Given the description of an element on the screen output the (x, y) to click on. 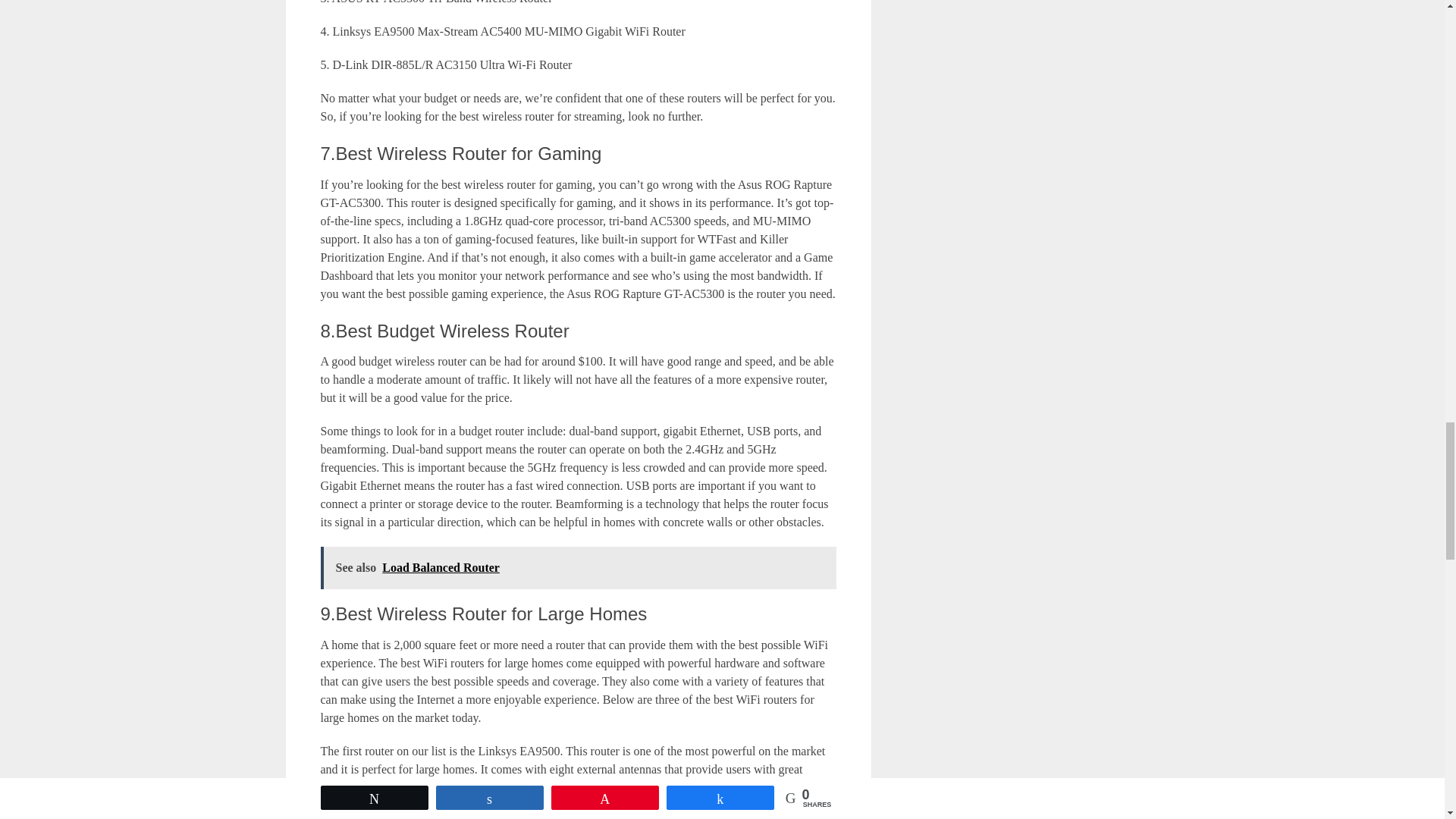
See also  Load Balanced Router (577, 567)
